Given the description of an element on the screen output the (x, y) to click on. 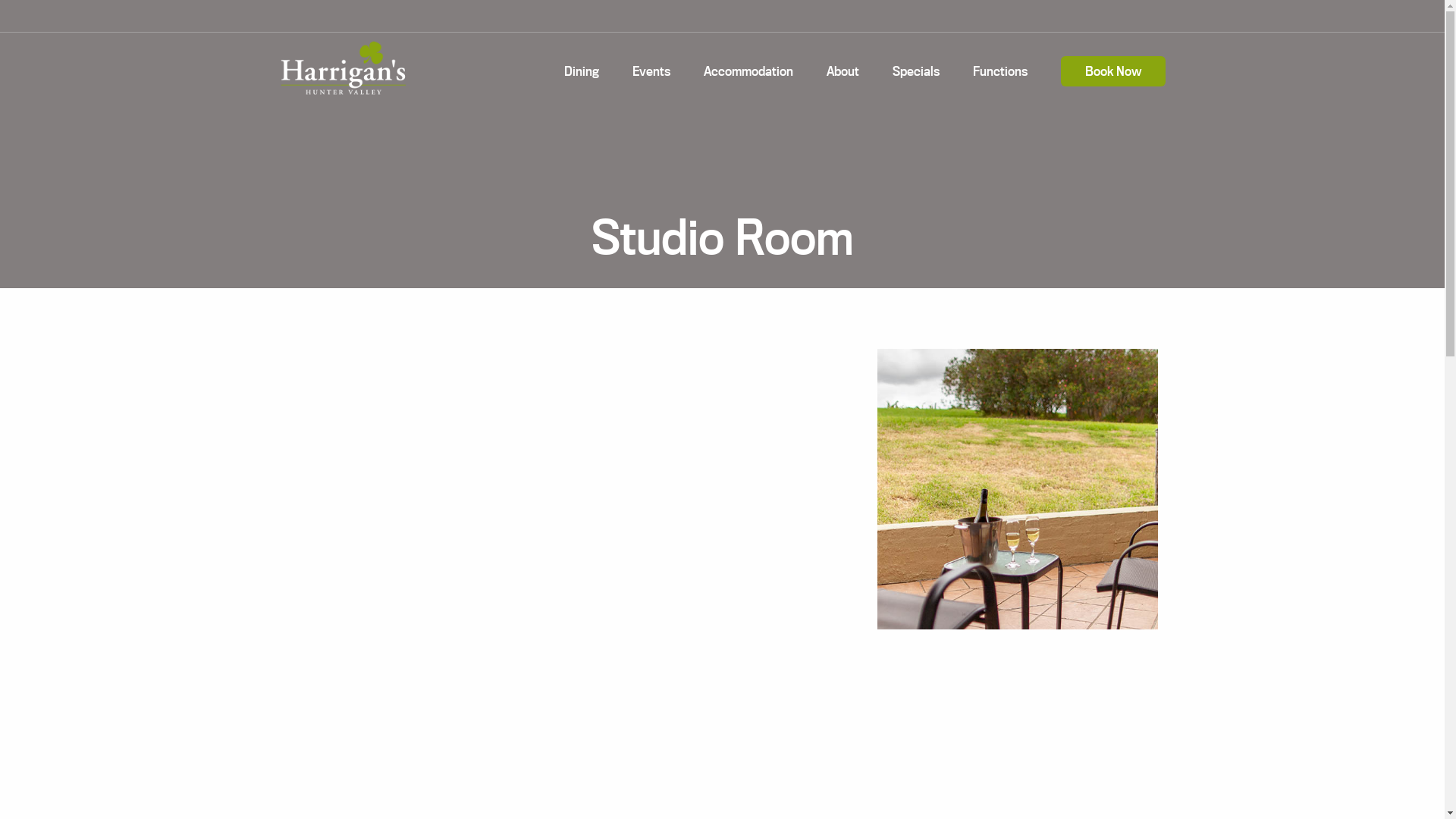
Book Now Element type: text (1112, 71)
Specials Element type: text (915, 71)
Dining Element type: text (581, 71)
Functions Element type: text (999, 71)
Accommodation Element type: text (748, 71)
About Element type: text (842, 71)
Events Element type: text (651, 71)
